Given the description of an element on the screen output the (x, y) to click on. 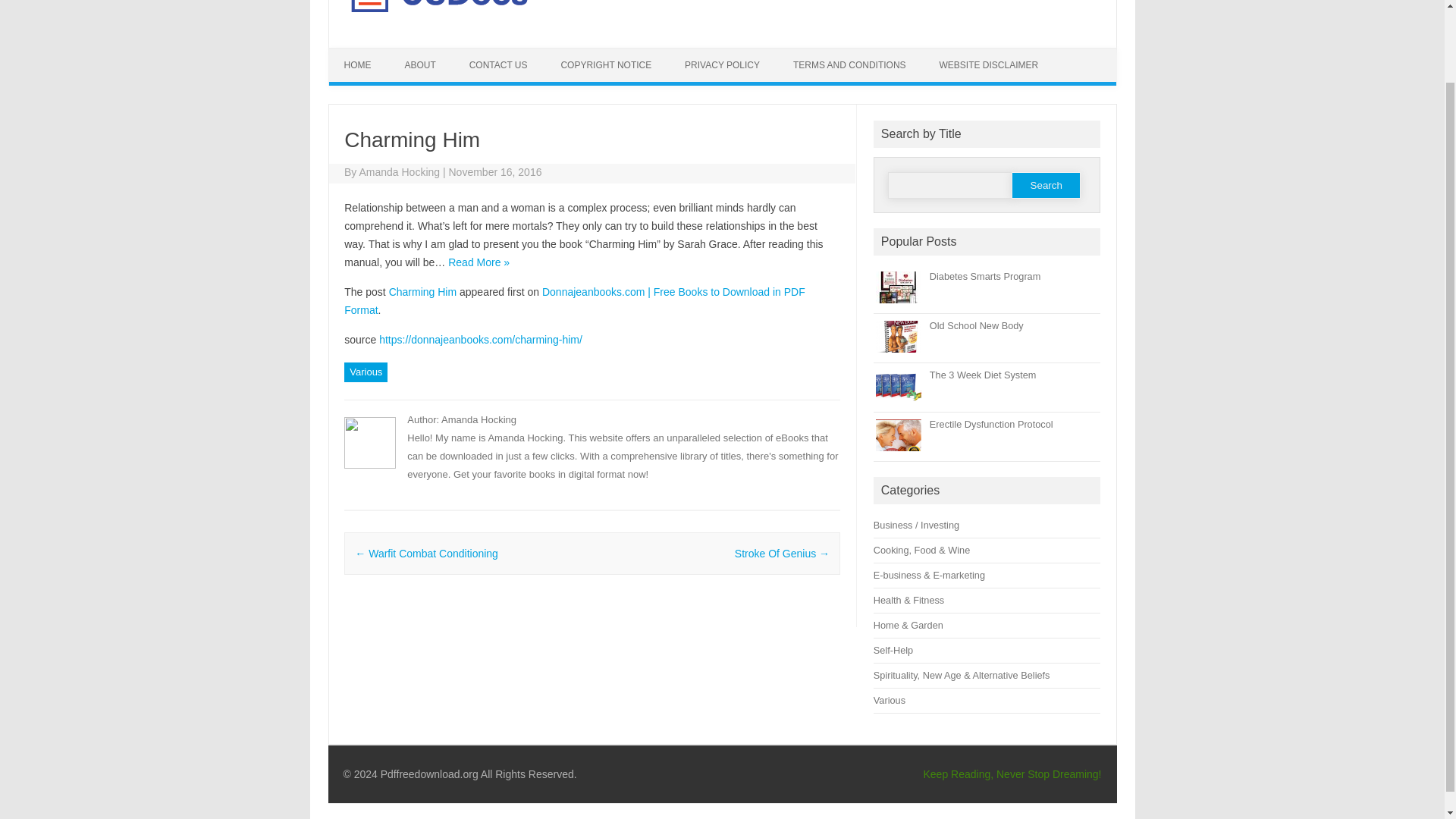
The 3 Week Diet System (983, 374)
Old School New Body (976, 325)
Search (1045, 185)
HOME (358, 64)
Search (1045, 185)
Various (365, 372)
Various (889, 699)
TERMS AND CONDITIONS (849, 64)
WEBSITE DISCLAIMER (989, 64)
